Given the description of an element on the screen output the (x, y) to click on. 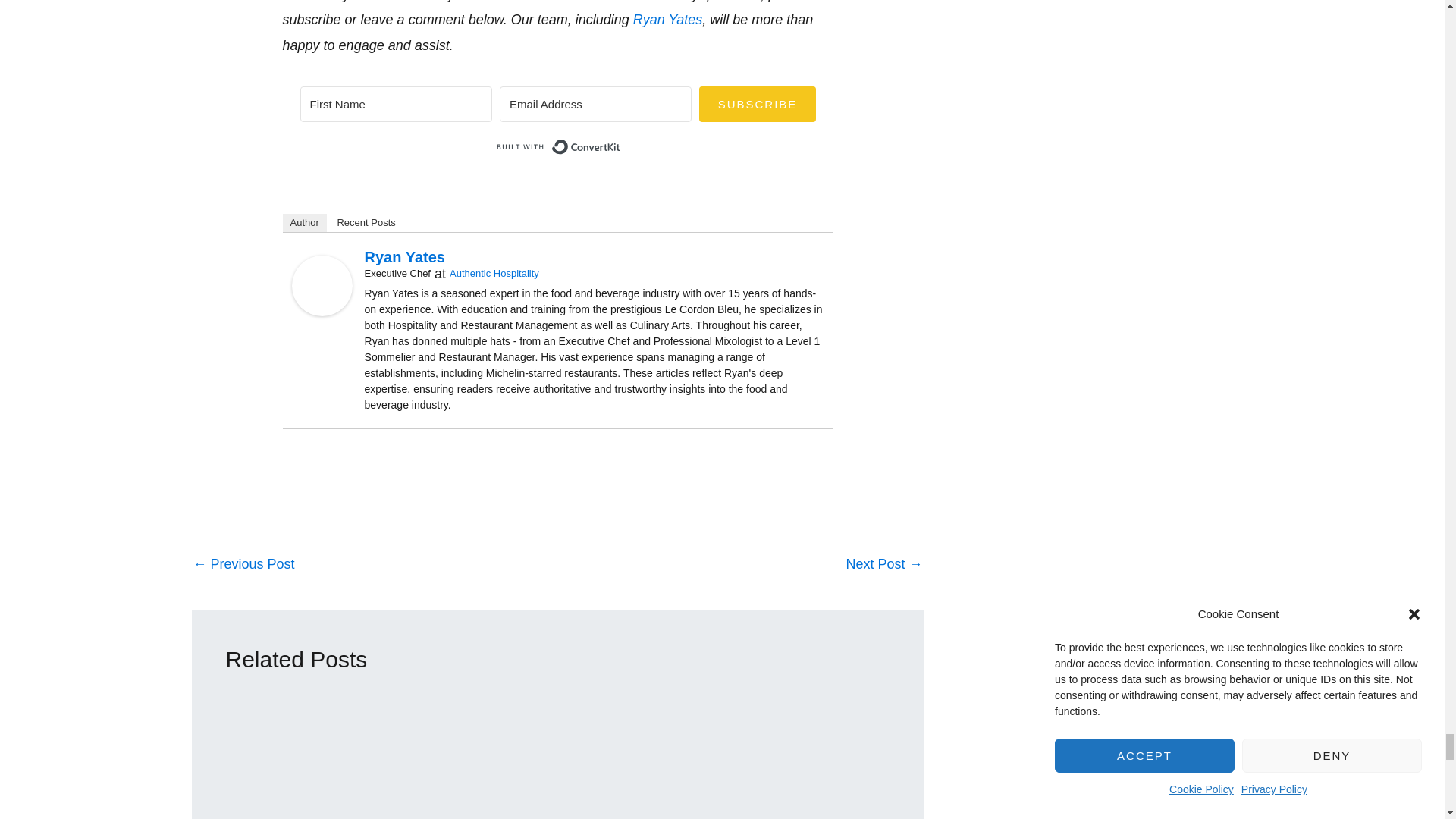
Ryan Yates (322, 284)
Saying It Right: How Crepes Pronounce in American English (243, 565)
What Do Crepes Mean? And What Do Crepes Go With? (883, 565)
